Given the description of an element on the screen output the (x, y) to click on. 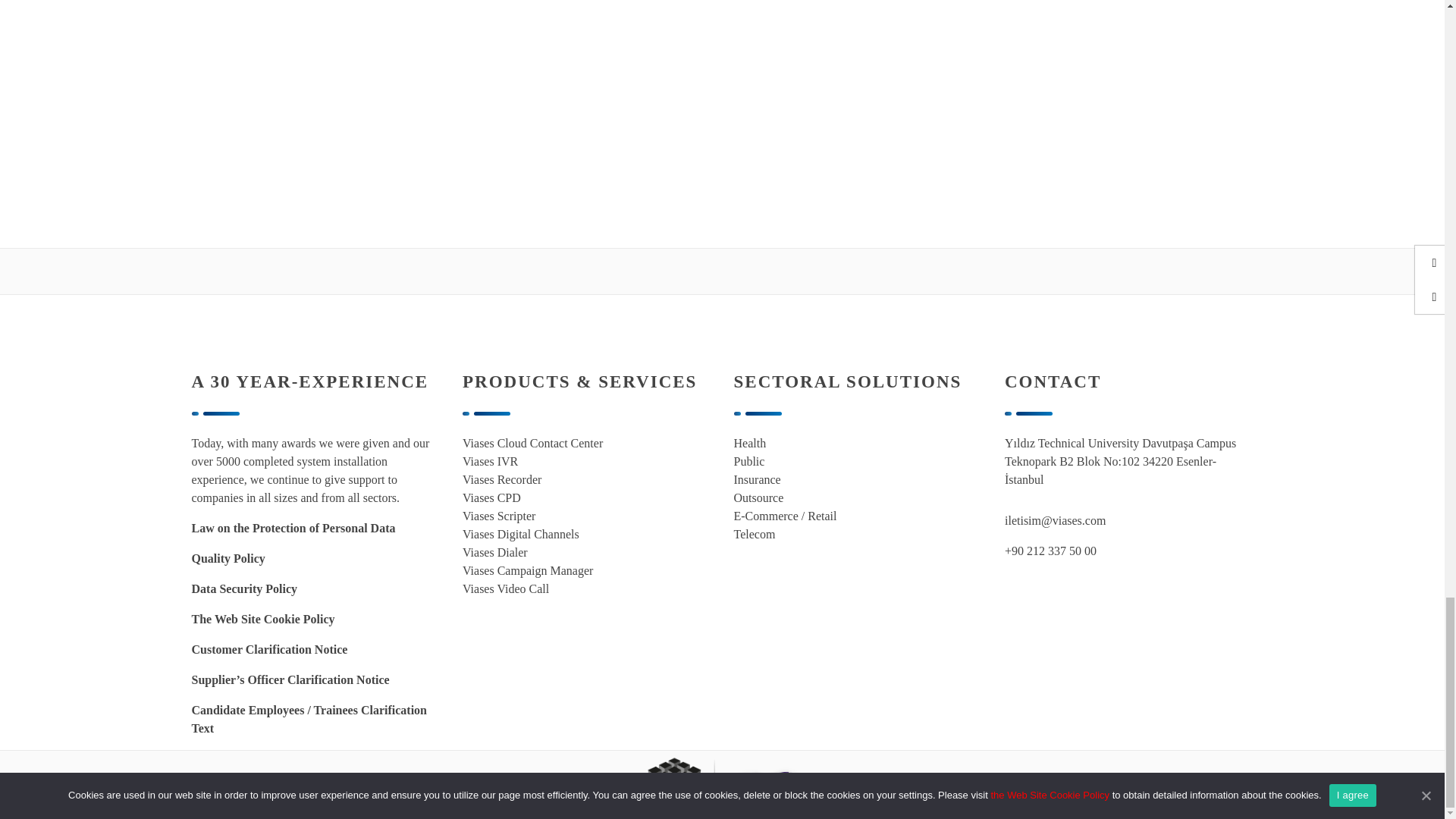
Viases (732, 783)
